Given the description of an element on the screen output the (x, y) to click on. 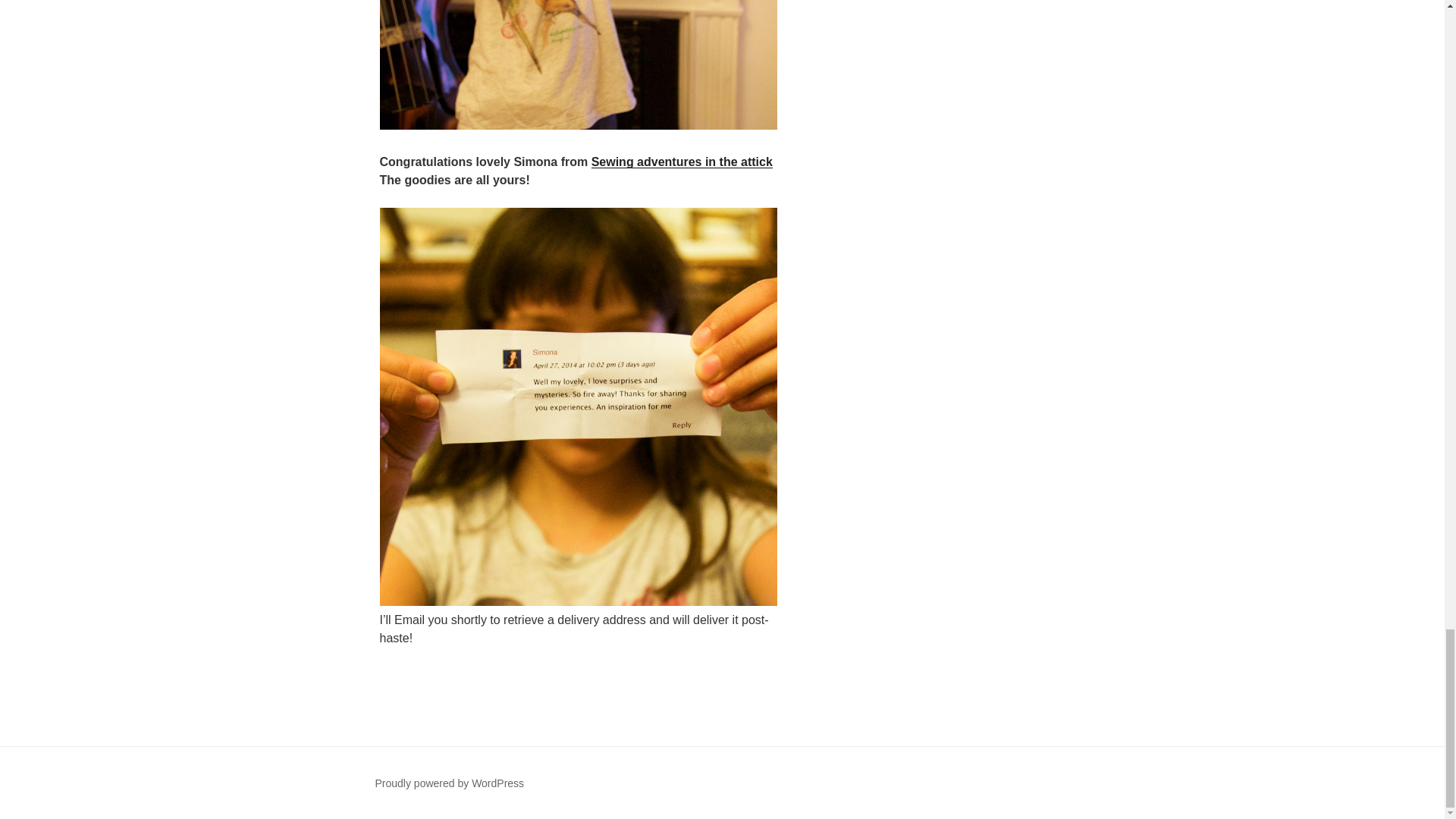
Sewing adventures in the attick (682, 161)
Proudly powered by WordPress (449, 783)
